Given the description of an element on the screen output the (x, y) to click on. 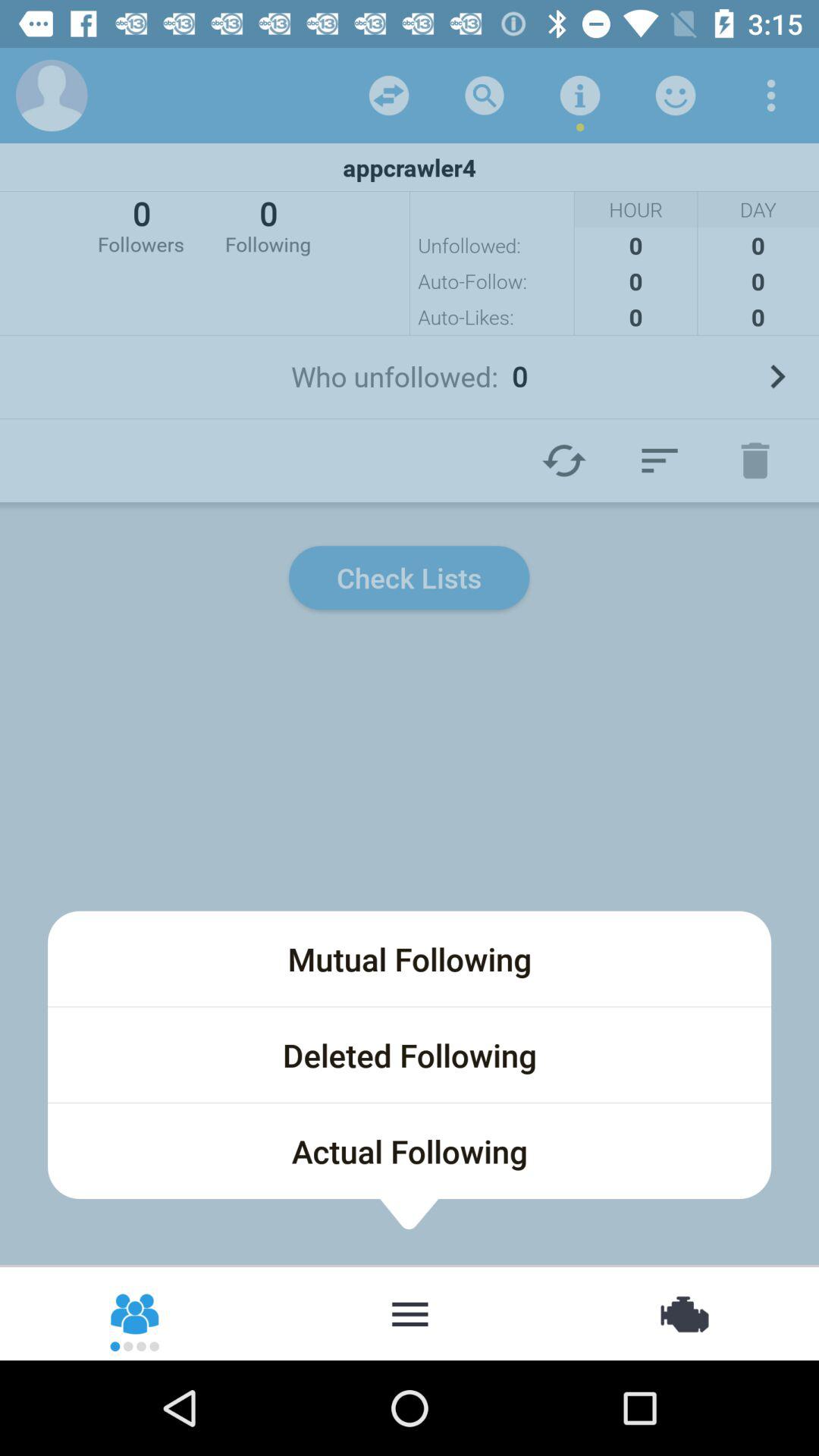
see profile (51, 95)
